Given the description of an element on the screen output the (x, y) to click on. 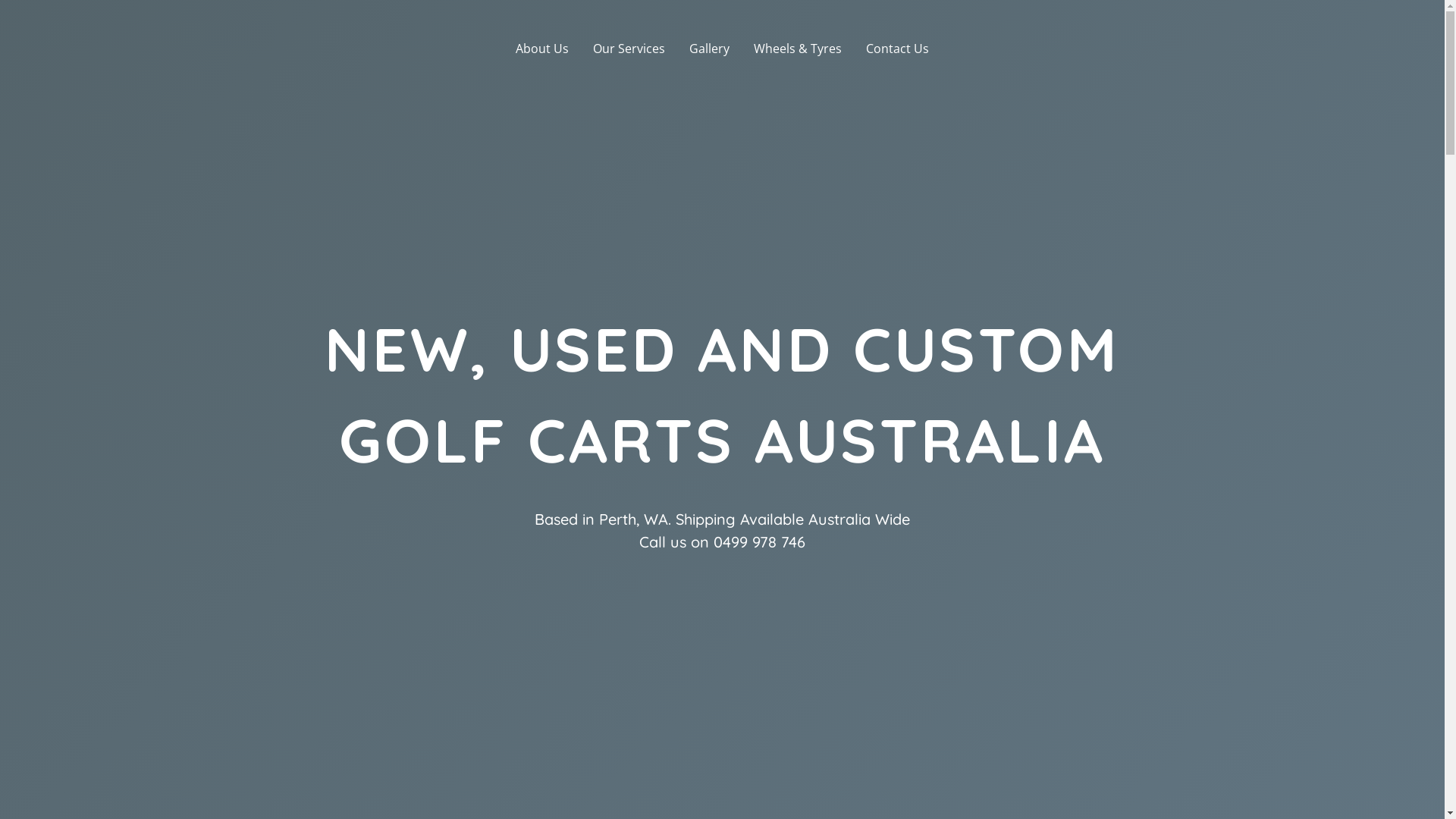
Wheels & Tyres Element type: text (797, 48)
Gallery Element type: text (709, 48)
Contact Us Element type: text (897, 48)
Our Services Element type: text (628, 48)
About Us Element type: text (541, 48)
